Given the description of an element on the screen output the (x, y) to click on. 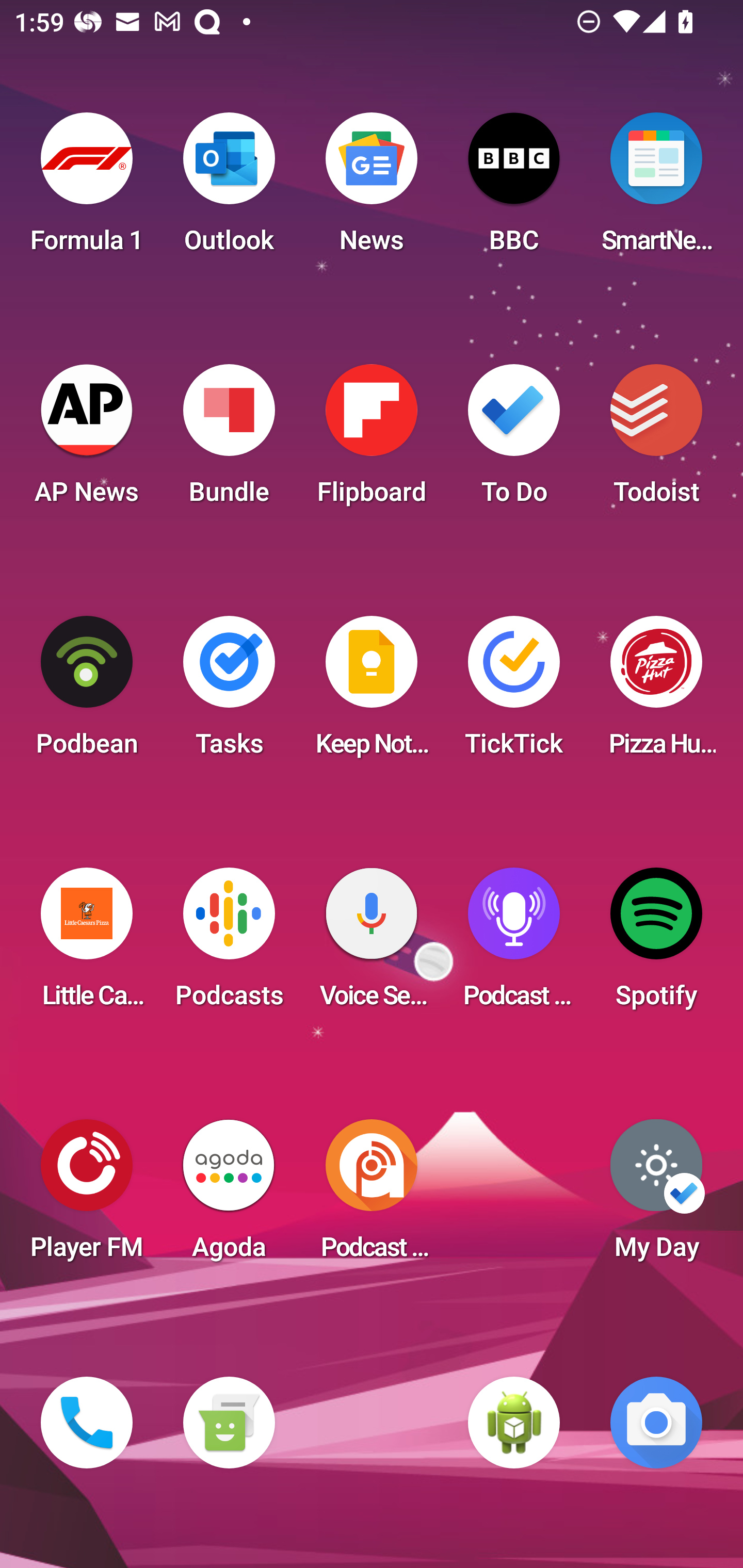
Formula 1 (86, 188)
Outlook (228, 188)
News (371, 188)
BBC (513, 188)
SmartNews (656, 188)
AP News (86, 440)
Bundle (228, 440)
Flipboard (371, 440)
To Do (513, 440)
Todoist (656, 440)
Podbean (86, 692)
Tasks (228, 692)
Keep Notes (371, 692)
TickTick (513, 692)
Pizza Hut HK & Macau (656, 692)
Little Caesars Pizza (86, 943)
Podcasts (228, 943)
Voice Search (371, 943)
Podcast Player (513, 943)
Spotify (656, 943)
Player FM (86, 1195)
Agoda (228, 1195)
Podcast Addict (371, 1195)
My Day (656, 1195)
Phone (86, 1422)
Messaging (228, 1422)
WebView Browser Tester (513, 1422)
Camera (656, 1422)
